Given the description of an element on the screen output the (x, y) to click on. 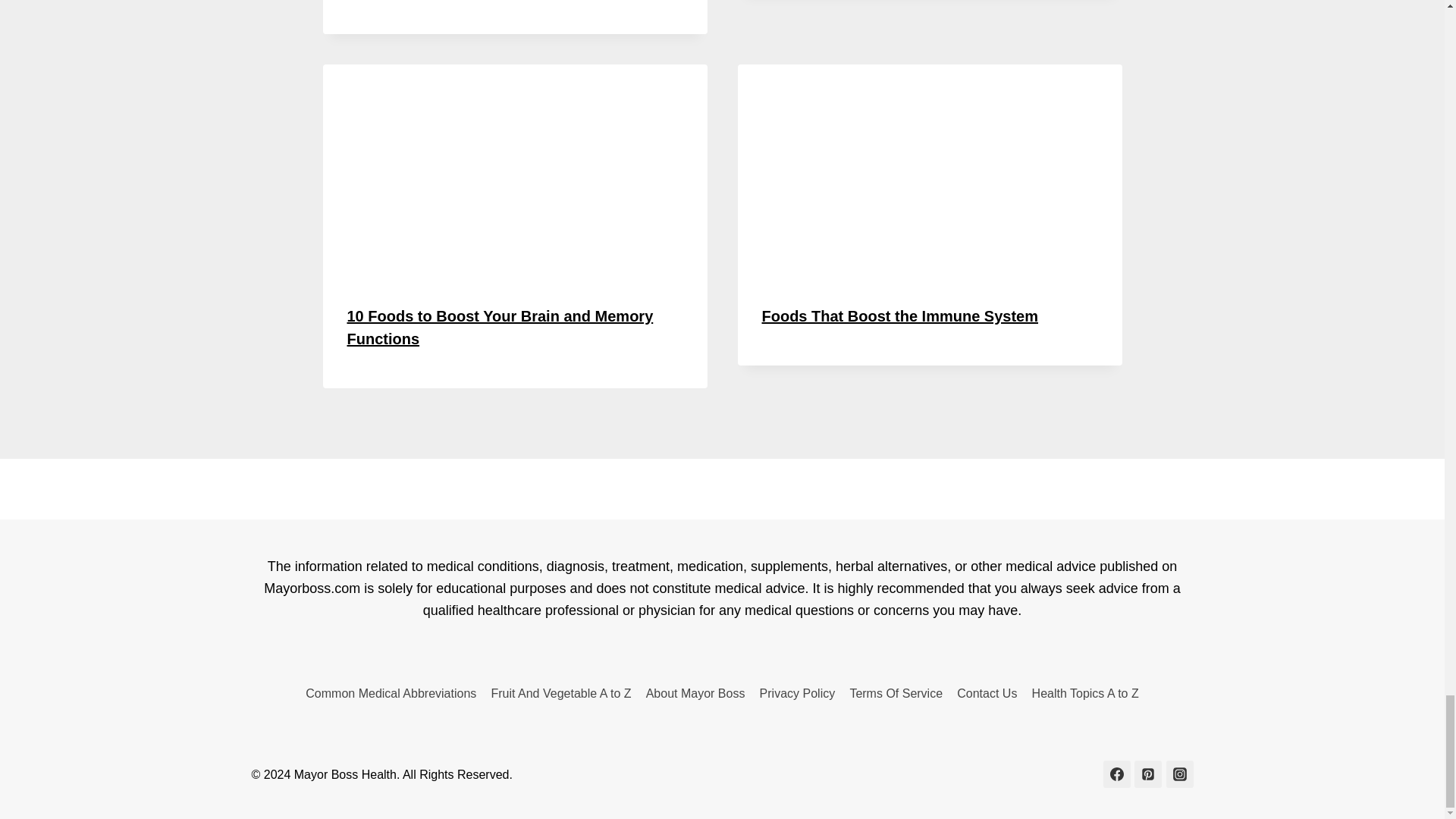
Fruit And Vegetable A to Z (561, 693)
Foods That Boost the Immune System (898, 315)
10 Foods to Boost Your Brain and Memory Functions (500, 327)
Common Medical Abbreviations (390, 693)
